Given the description of an element on the screen output the (x, y) to click on. 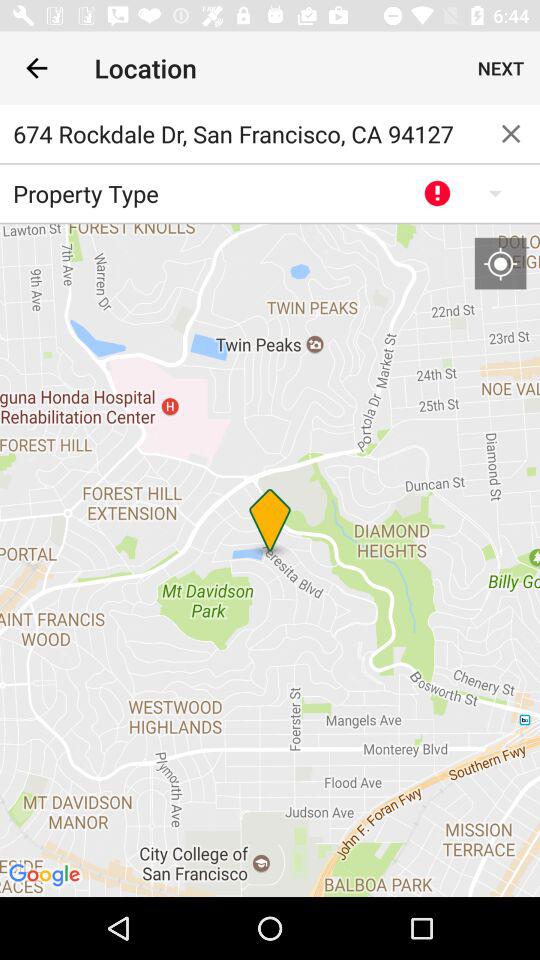
turn on the next (500, 67)
